Given the description of an element on the screen output the (x, y) to click on. 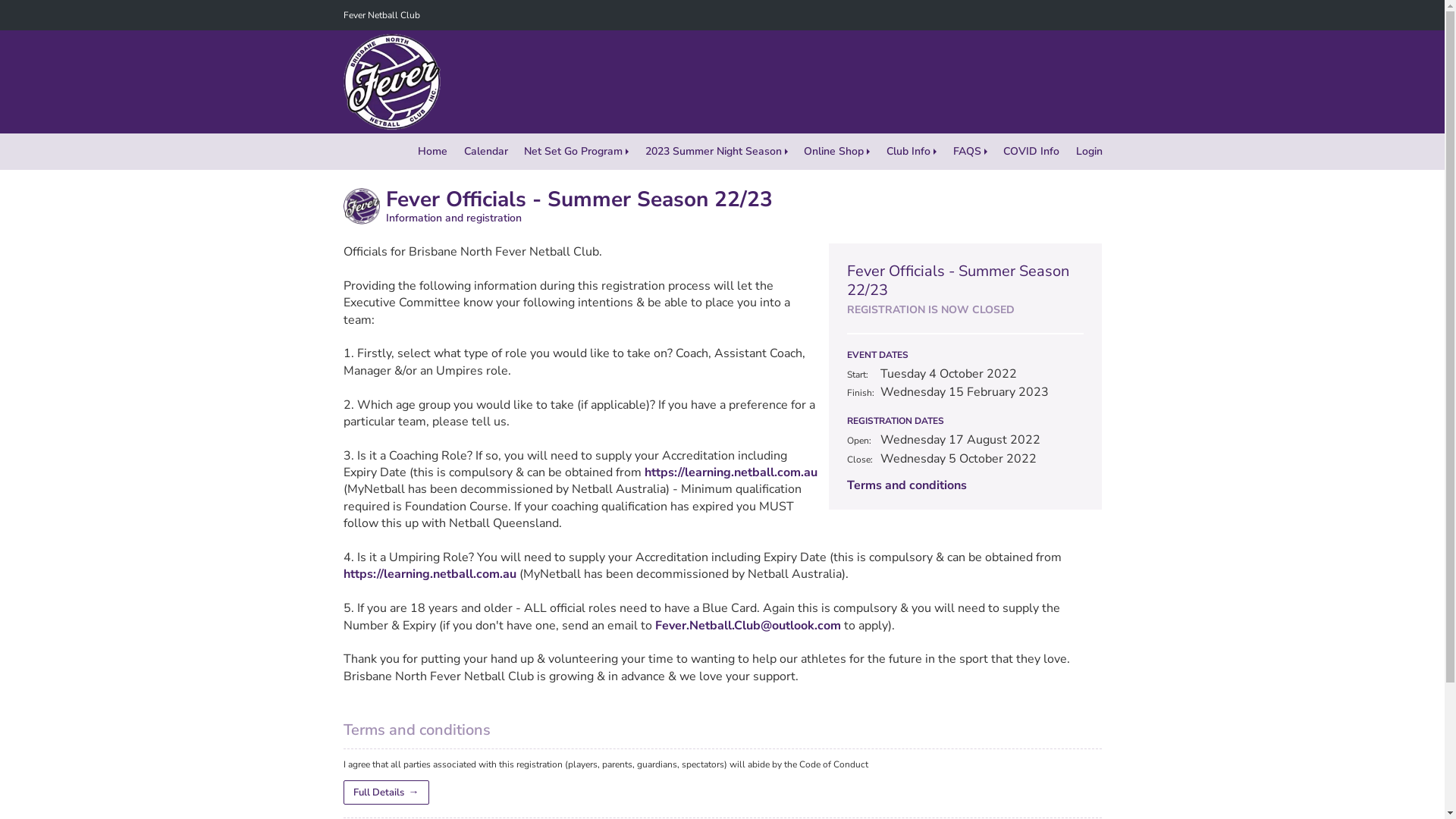
Terms and conditions Element type: text (906, 485)
Full Details Element type: text (385, 792)
Net Set Go Program Element type: text (576, 151)
Online Shop Element type: text (837, 151)
Fever Netball Club Element type: text (380, 15)
https://learning.netball.com.au Element type: text (428, 573)
COVID Info Element type: text (1030, 151)
Login Element type: text (1088, 151)
Home Element type: text (432, 151)
https://learning.netball.com.au Element type: text (730, 472)
Club Info Element type: text (911, 151)
Fever.Netball.Club@outlook.com Element type: text (747, 625)
Calendar Element type: text (485, 151)
2023 Summer Night Season Element type: text (716, 151)
FAQS Element type: text (969, 151)
